Given the description of an element on the screen output the (x, y) to click on. 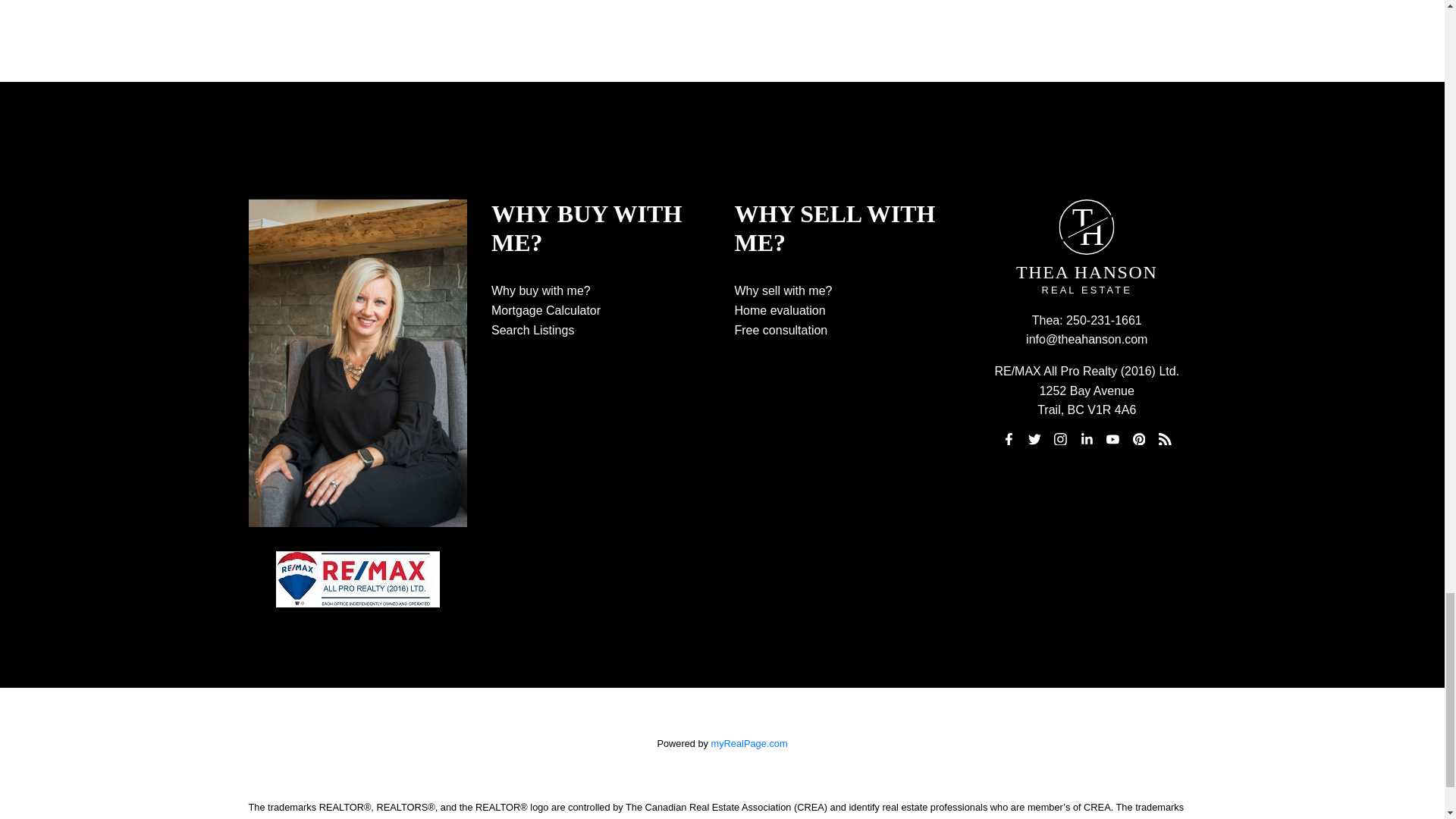
Facebook (1008, 438)
Twitter (1034, 438)
YouTube (1113, 438)
Pinterest (1139, 438)
Blog (1164, 438)
linkedin (1086, 438)
instagram (1060, 438)
